Given the description of an element on the screen output the (x, y) to click on. 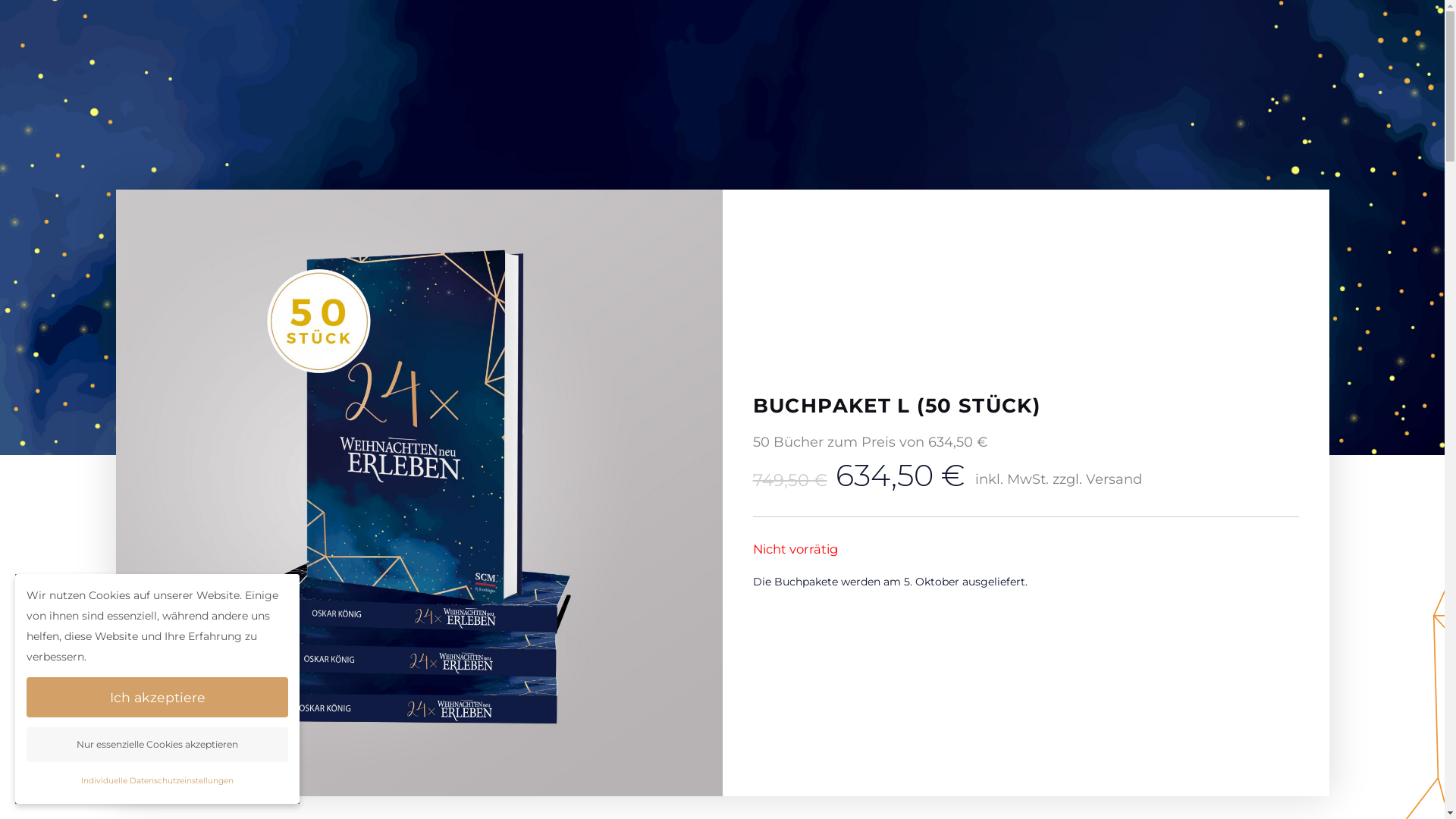
Individuelle Datenschutzeinstellungen Element type: text (157, 780)
Nur essenzielle Cookies akzeptieren Element type: text (157, 744)
Ich akzeptiere Element type: text (157, 697)
